Given the description of an element on the screen output the (x, y) to click on. 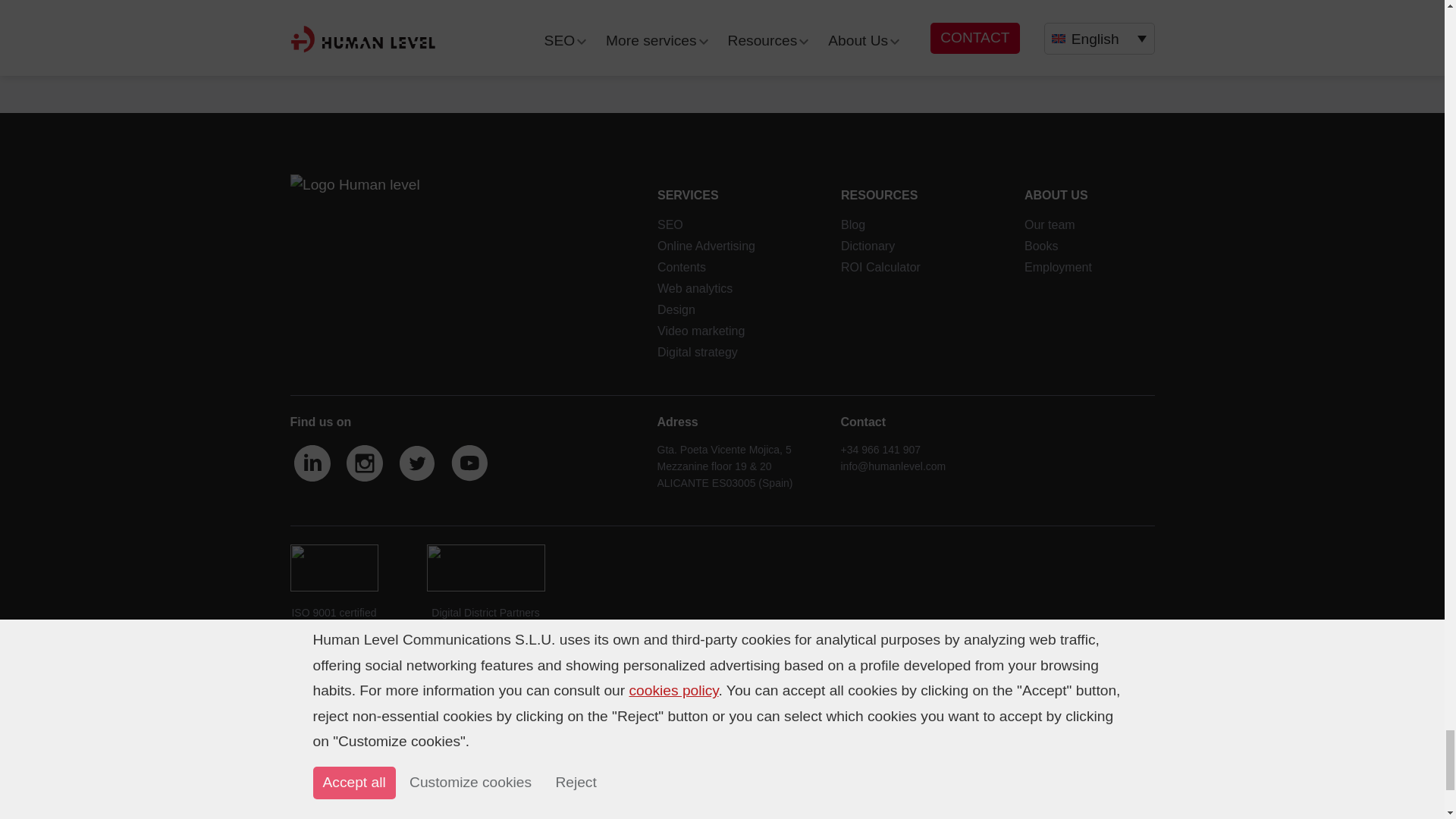
SEND (753, 2)
Linkedin (311, 463)
Instagram (365, 463)
